Given the description of an element on the screen output the (x, y) to click on. 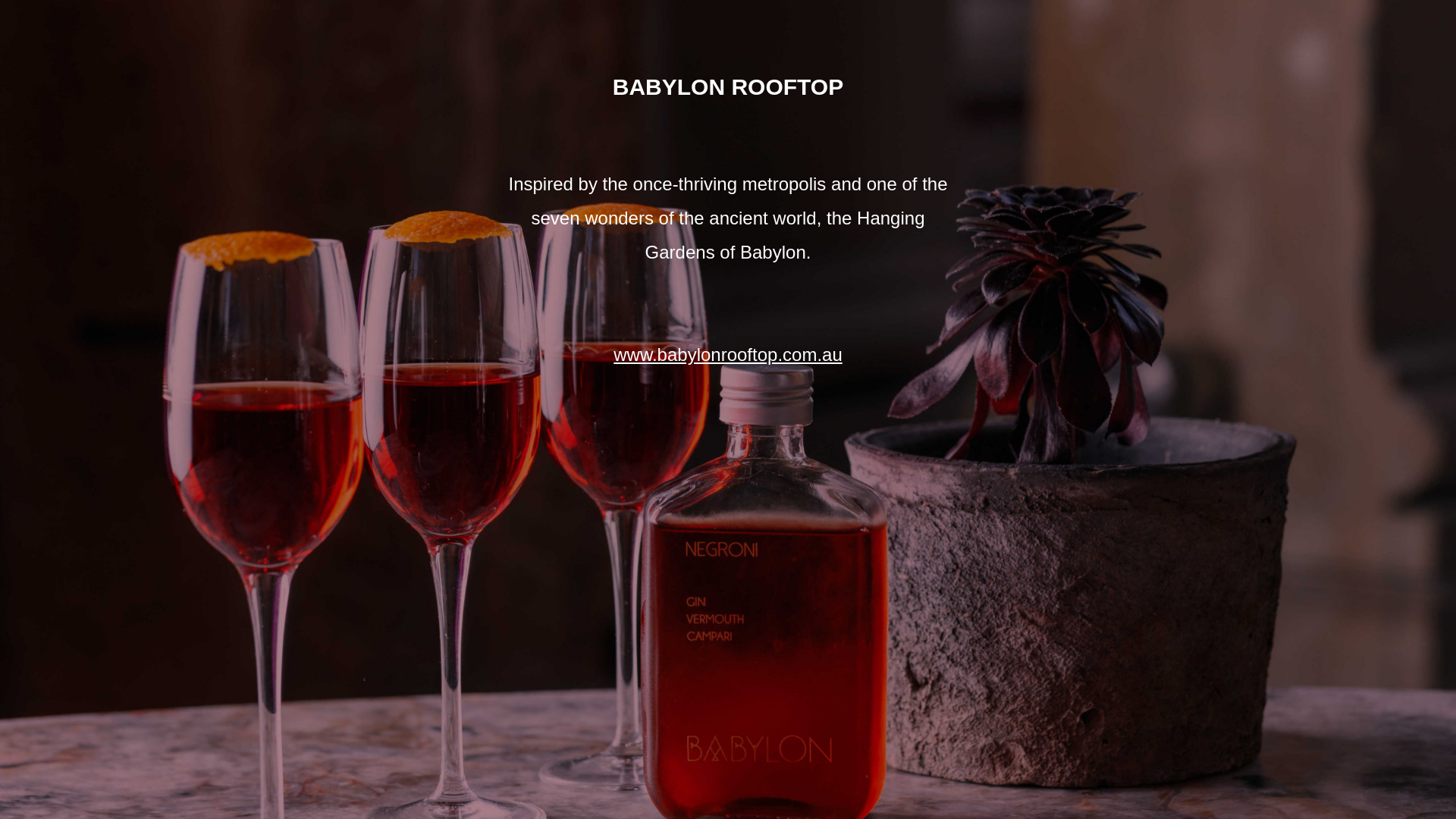
www.babylonrooftop.com.au Element type: text (727, 354)
